Given the description of an element on the screen output the (x, y) to click on. 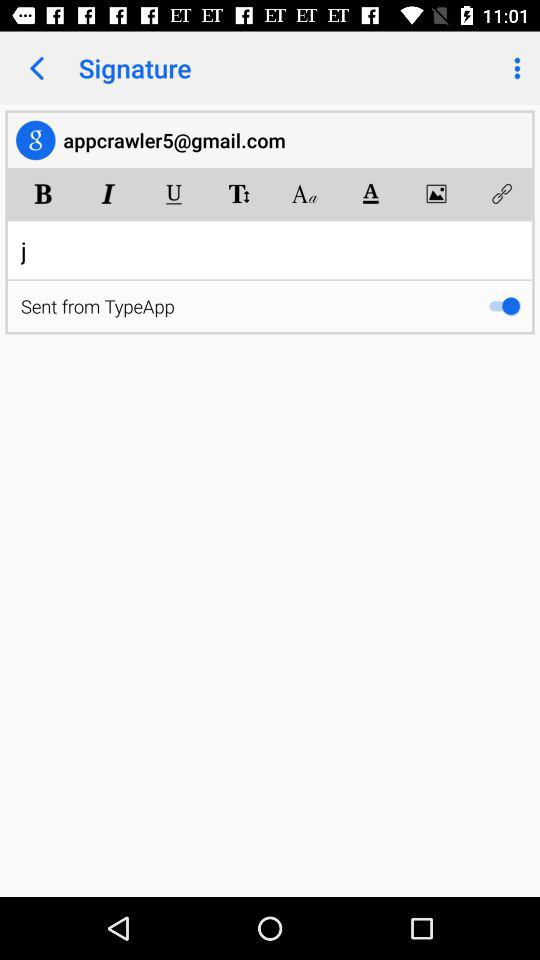
tap item above the j (436, 193)
